Given the description of an element on the screen output the (x, y) to click on. 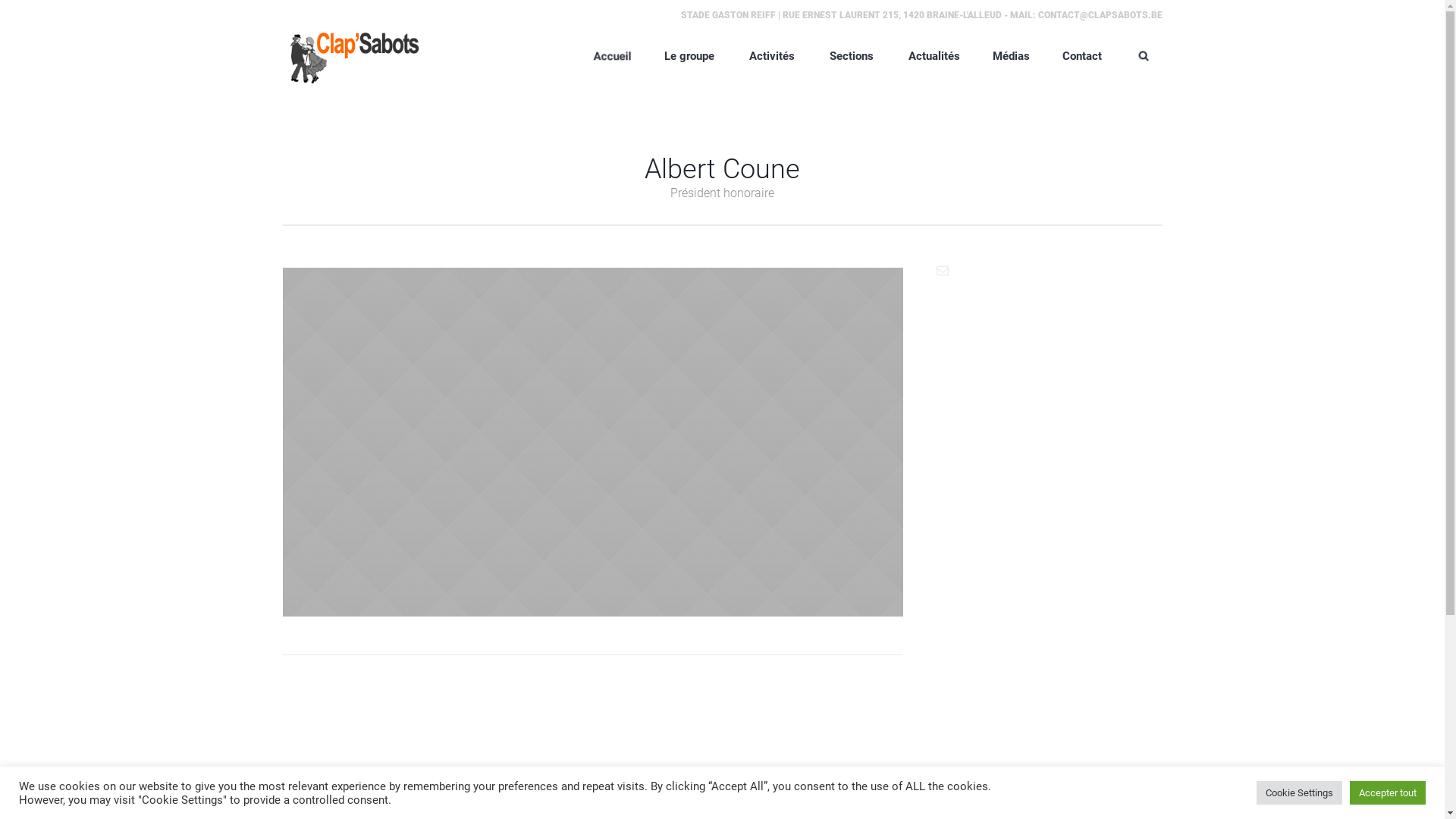
Sections Element type: text (847, 54)
Home Element type: text (654, 576)
Ensemble Clap'Sabots Element type: hover (350, 55)
Accueil Element type: text (608, 54)
Qui sommes nous ? Element type: text (722, 576)
Twitter Element type: hover (704, 635)
Facebook Element type: hover (660, 635)
Accepter tout Element type: text (1387, 792)
Contact Element type: text (1078, 54)
Le groupe Element type: text (685, 54)
News Element type: text (790, 576)
Cookie Settings Element type: text (1299, 792)
